Given the description of an element on the screen output the (x, y) to click on. 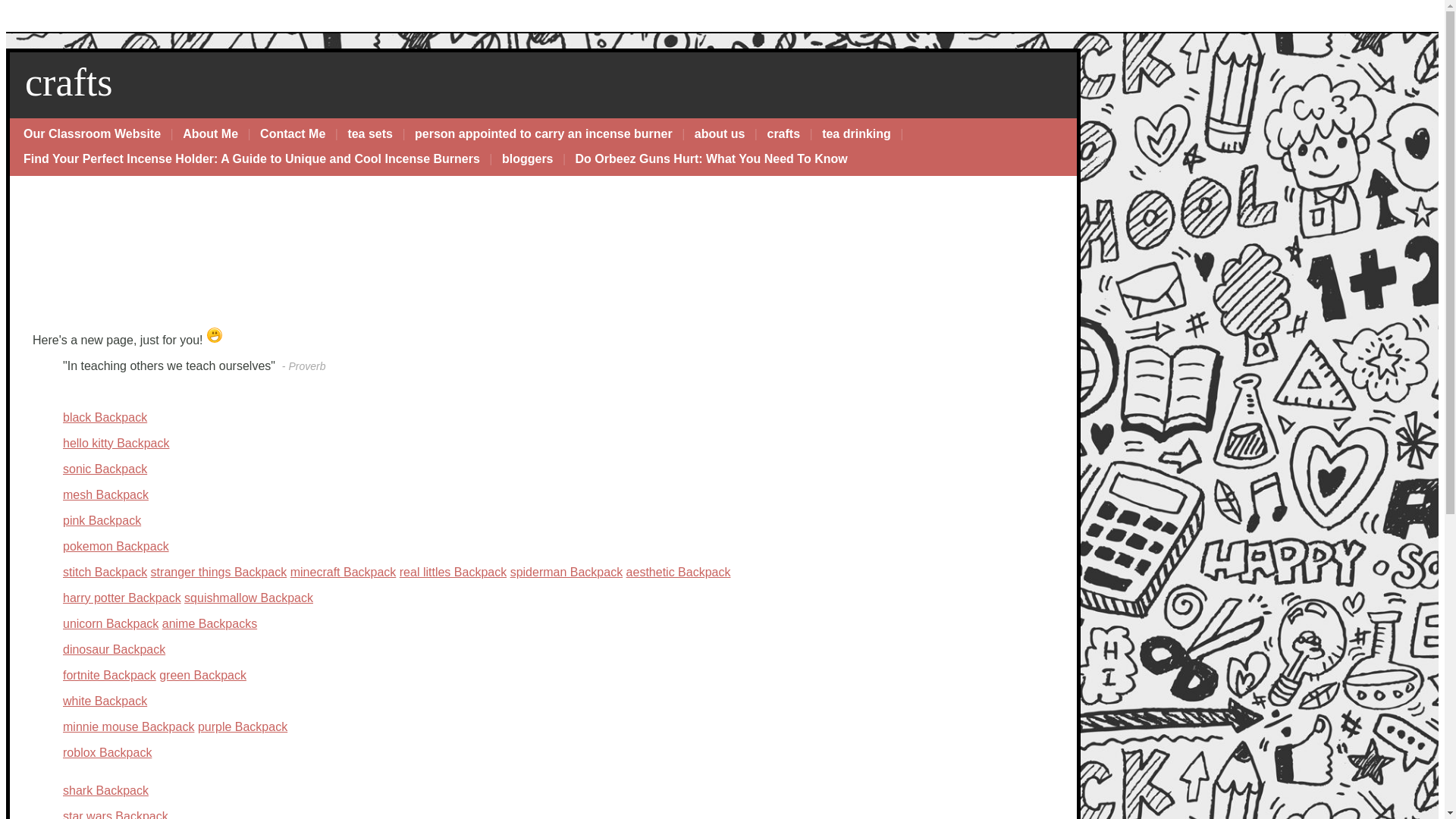
minecraft Backpack (342, 571)
unicorn Backpack (110, 623)
Our Classroom Website (92, 134)
Advertisement (95, 260)
star wars Backpack (115, 814)
green Backpack (202, 675)
hello kitty Backpack (116, 442)
spiderman Backpack (567, 571)
fortnite Backpack (108, 675)
pokemon Backpack (115, 545)
harry potter Backpack (121, 597)
sonic Backpack (104, 468)
Contact Me (292, 134)
stranger things Backpack (218, 571)
